Given the description of an element on the screen output the (x, y) to click on. 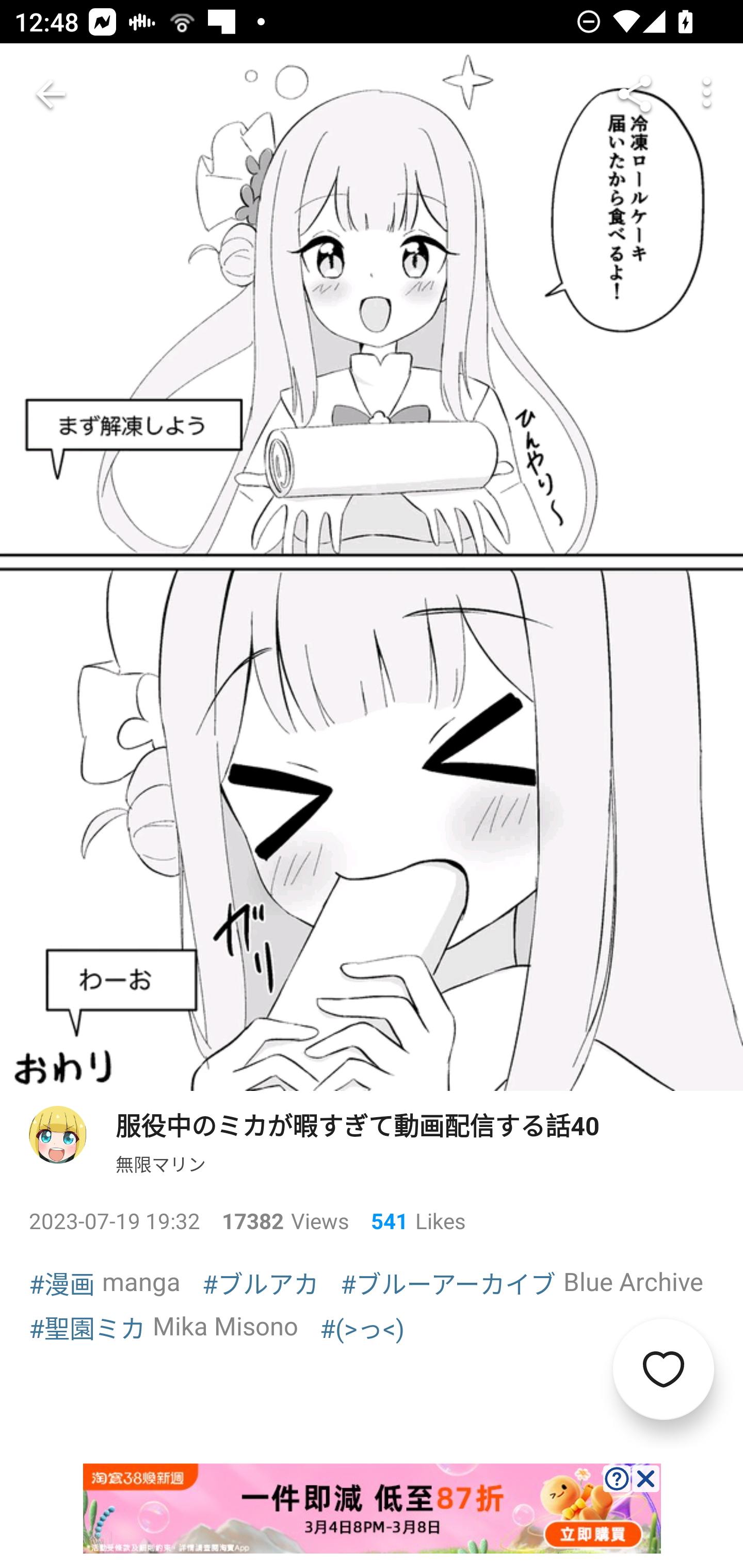
Share (634, 93)
More options (706, 93)
無限マリン (160, 1163)
541 (382, 1220)
#漫画 (61, 1282)
manga (141, 1280)
#ブルアカ (260, 1282)
#ブルーアーカイブ (448, 1282)
Blue Archive (633, 1280)
#聖園ミカ (86, 1327)
Mika Misono (225, 1325)
#(>っ<) (362, 1327)
pvdv44x_1709289262878_0 (371, 1507)
